Given the description of an element on the screen output the (x, y) to click on. 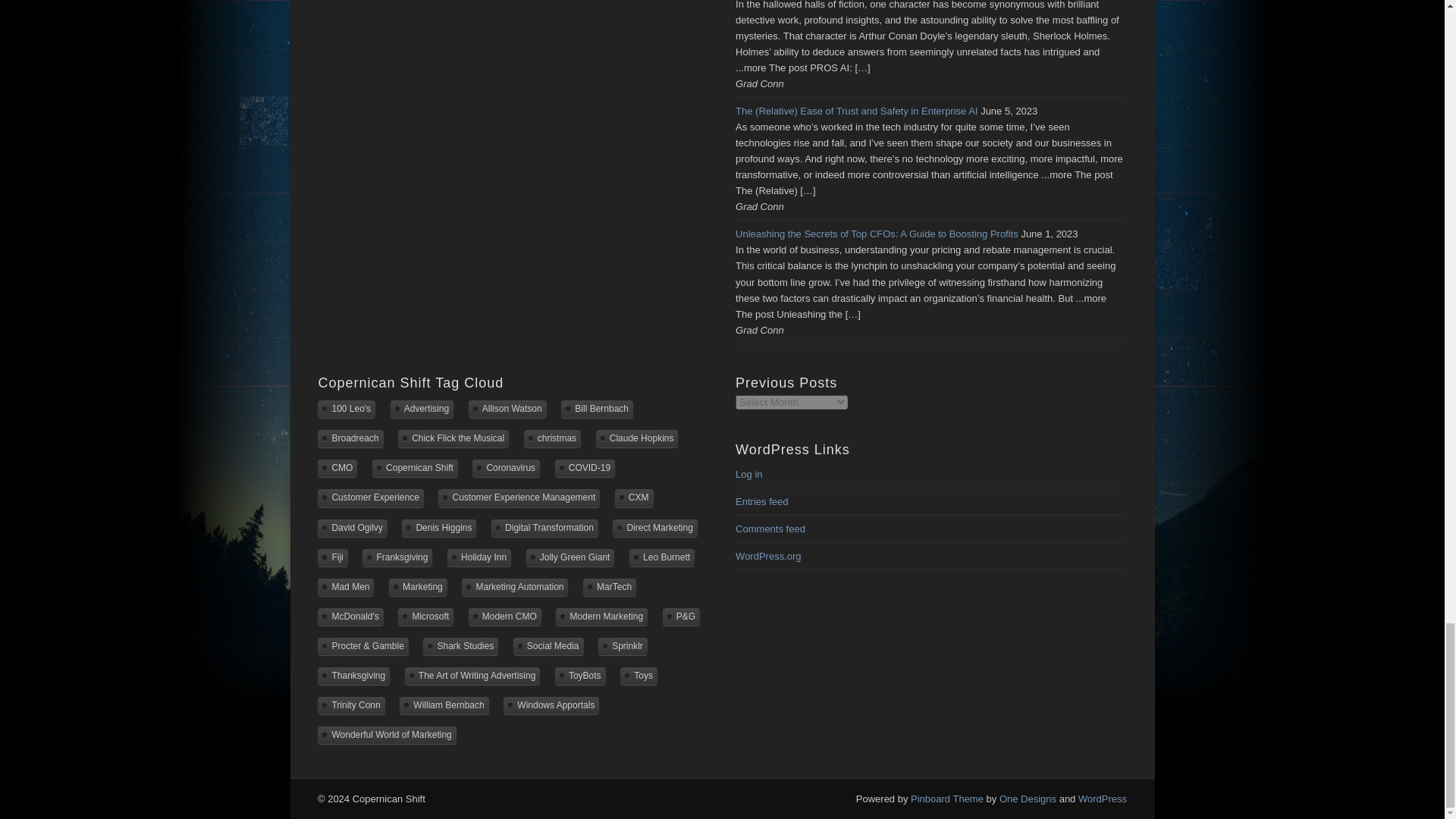
One Designs (1027, 798)
WordPress (1102, 798)
Pinboard Theme (947, 798)
